Given the description of an element on the screen output the (x, y) to click on. 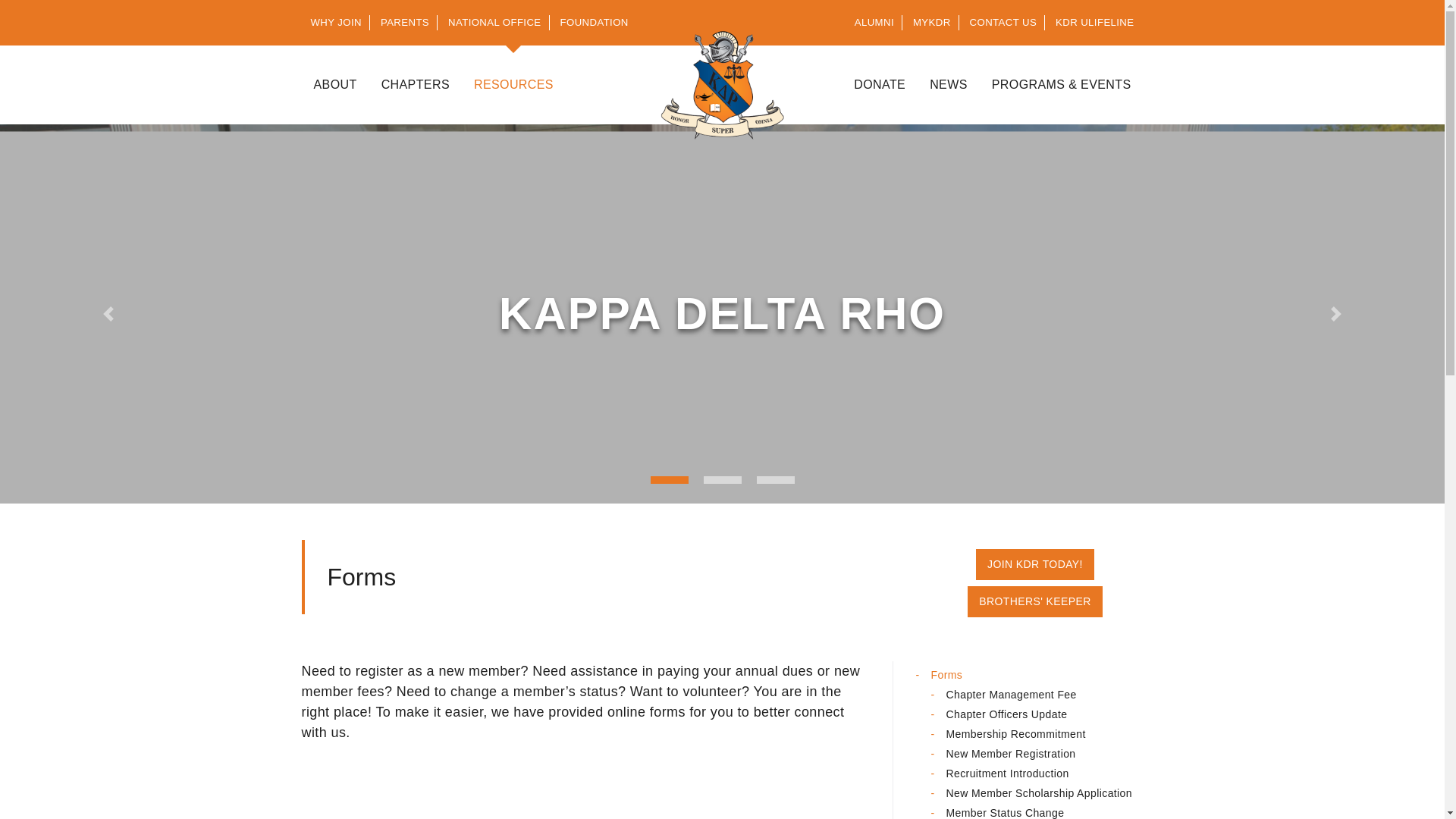
National Office (495, 22)
Alumni (874, 22)
MYKDR (932, 22)
RESOURCES (513, 84)
KDR ULIFELINE (1094, 22)
Contact Us (1003, 22)
NATIONAL OFFICE (495, 22)
Kappa Delta Rho (722, 84)
CONTACT US (1003, 22)
Why Join (335, 22)
